Given the description of an element on the screen output the (x, y) to click on. 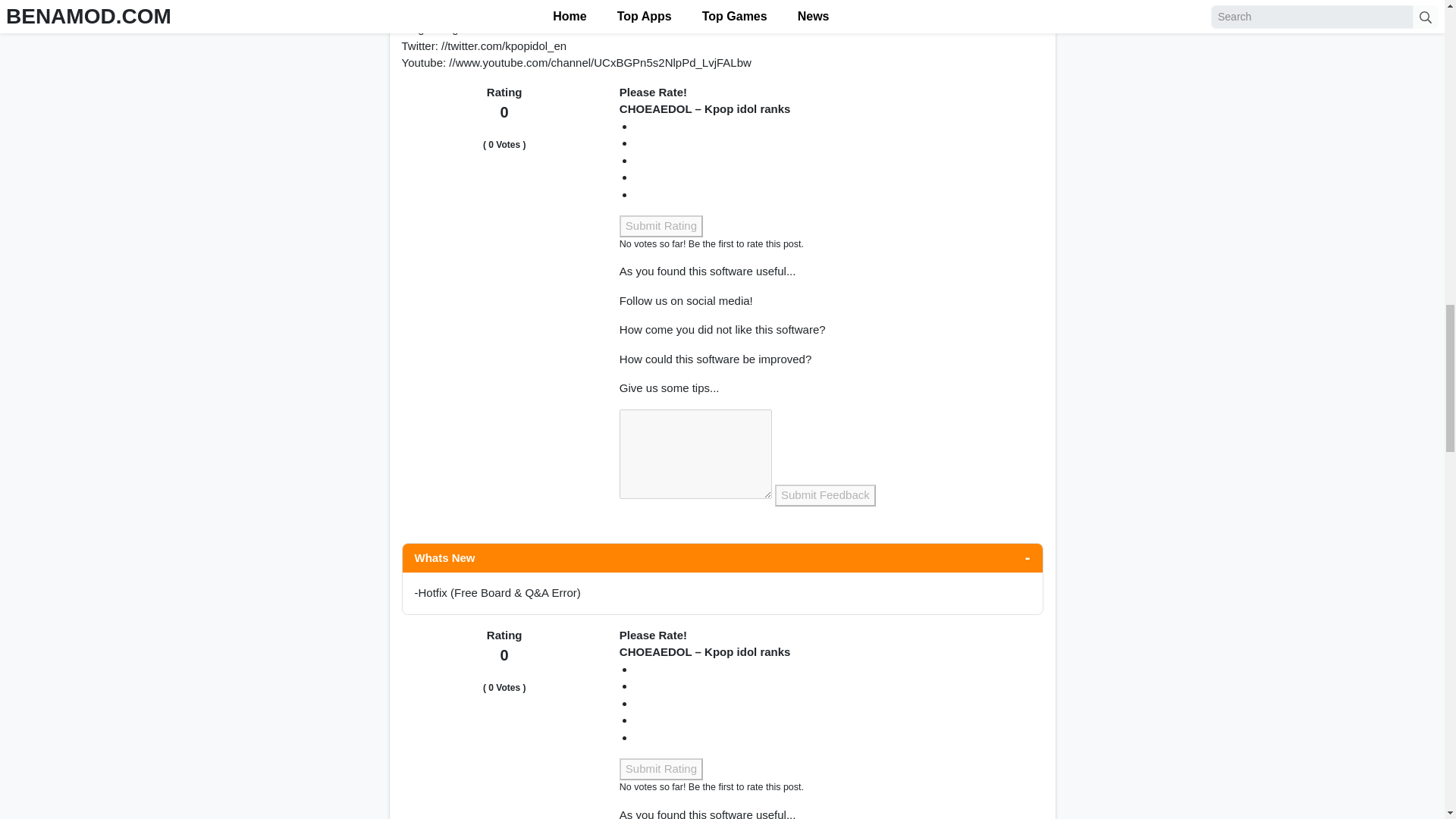
Submit Rating (661, 226)
Submit Rating (661, 769)
Submit Feedback (825, 495)
Whats New (721, 558)
